Given the description of an element on the screen output the (x, y) to click on. 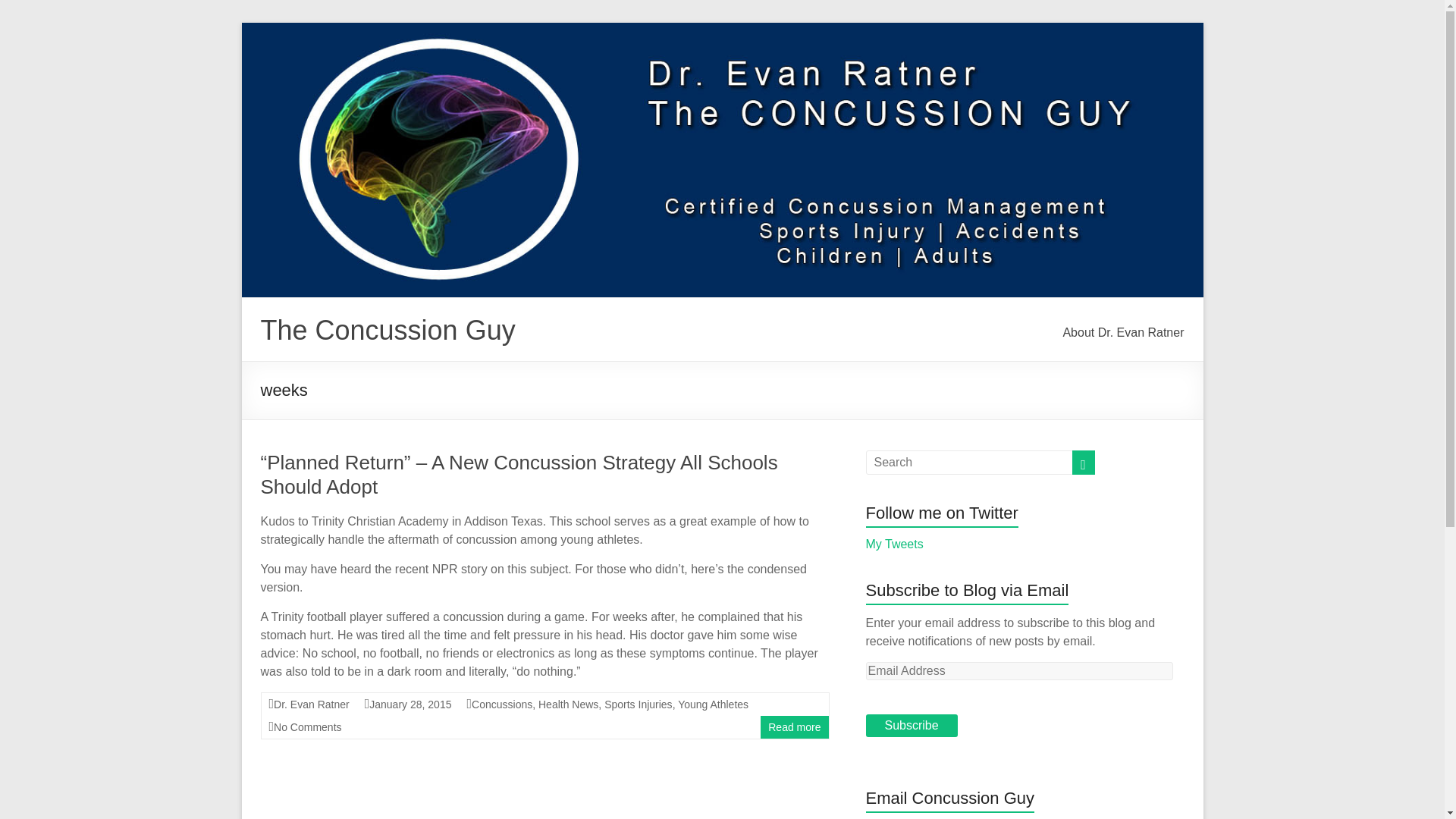
My Tweets (894, 543)
Subscribe (912, 725)
Dr. Evan Ratner (311, 704)
Concussions (501, 704)
9:38 pm (410, 704)
Young Athletes (713, 704)
Subscribe (912, 725)
Read more (794, 727)
January 28, 2015 (410, 704)
The Concussion Guy (387, 329)
The Concussion Guy (387, 329)
Search (38, 11)
No Comments (306, 727)
Sports Injuries (637, 704)
Health News (568, 704)
